Given the description of an element on the screen output the (x, y) to click on. 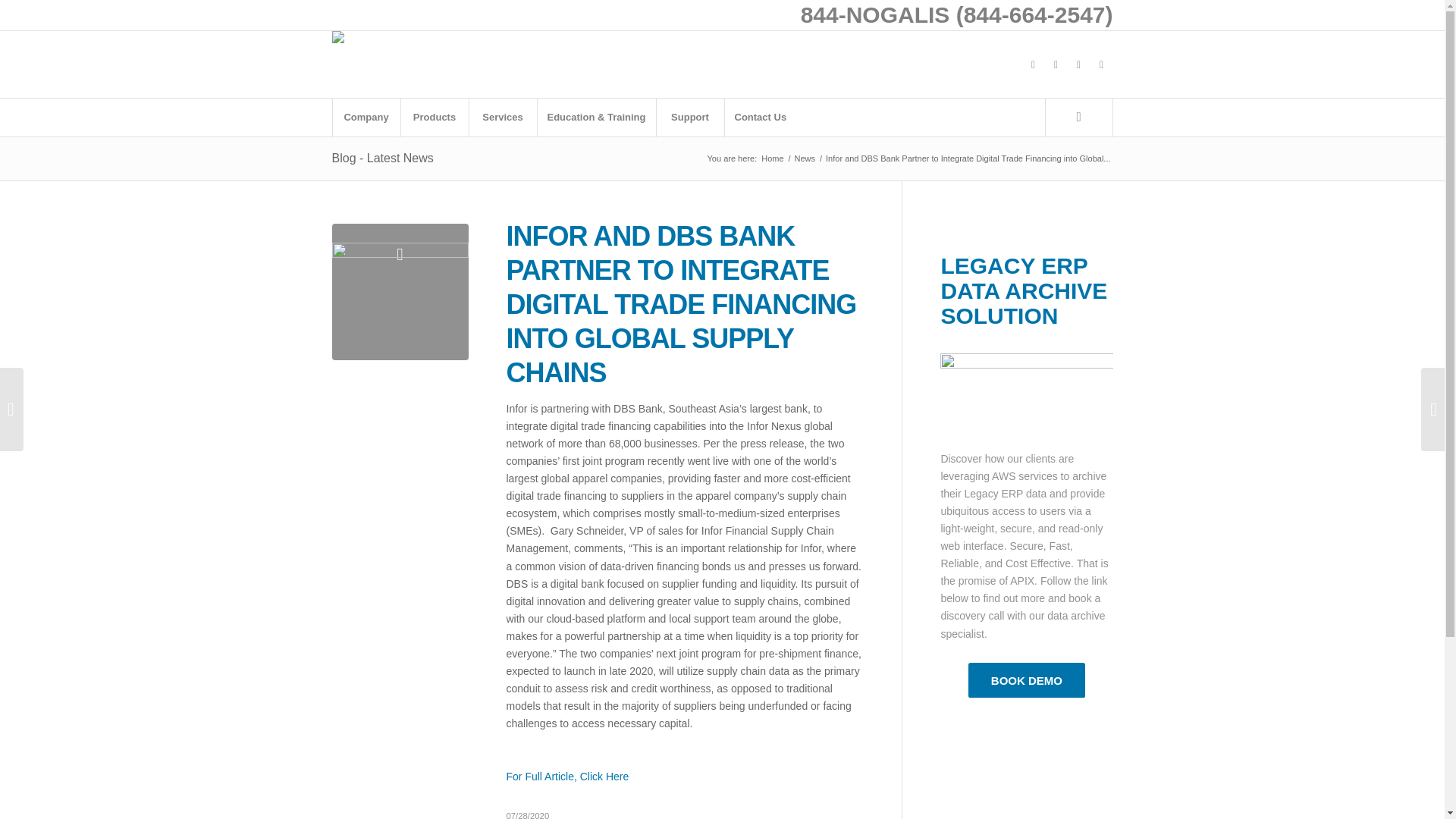
Support (689, 117)
Products (434, 117)
logo with slogan good (367, 42)
LinkedIn (1078, 64)
Blog - Latest News (382, 157)
News (805, 158)
Services (502, 117)
Mail (1101, 64)
Home (772, 158)
Nogalis, Inc. (772, 158)
X (1056, 64)
logo with slogan good (367, 64)
Contact Us (759, 117)
For Full Article, Click Here (567, 776)
LEGACY ERP DATA ARCHIVE SOLUTION (1023, 290)
